Given the description of an element on the screen output the (x, y) to click on. 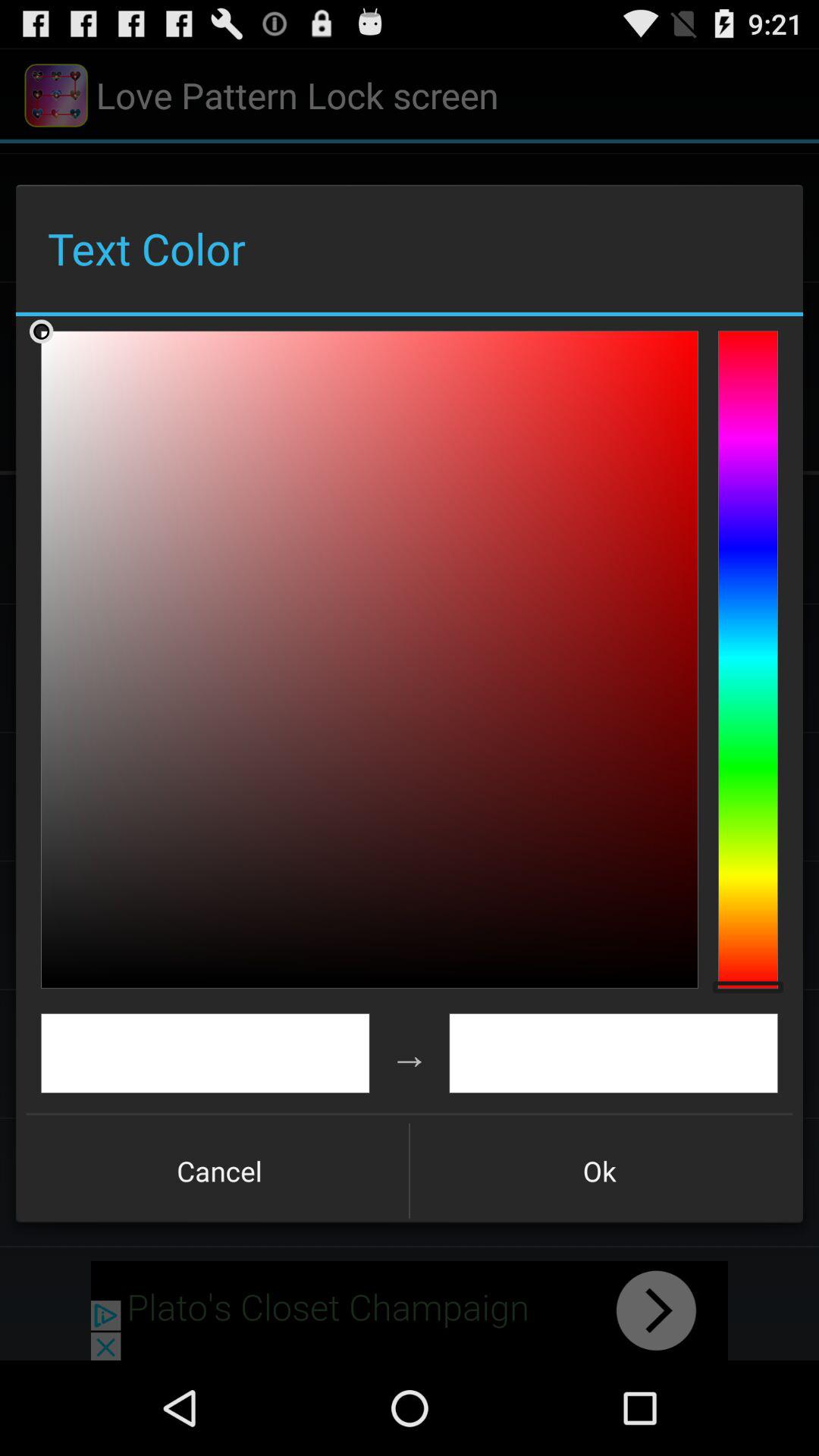
launch the item next to cancel icon (599, 1170)
